Given the description of an element on the screen output the (x, y) to click on. 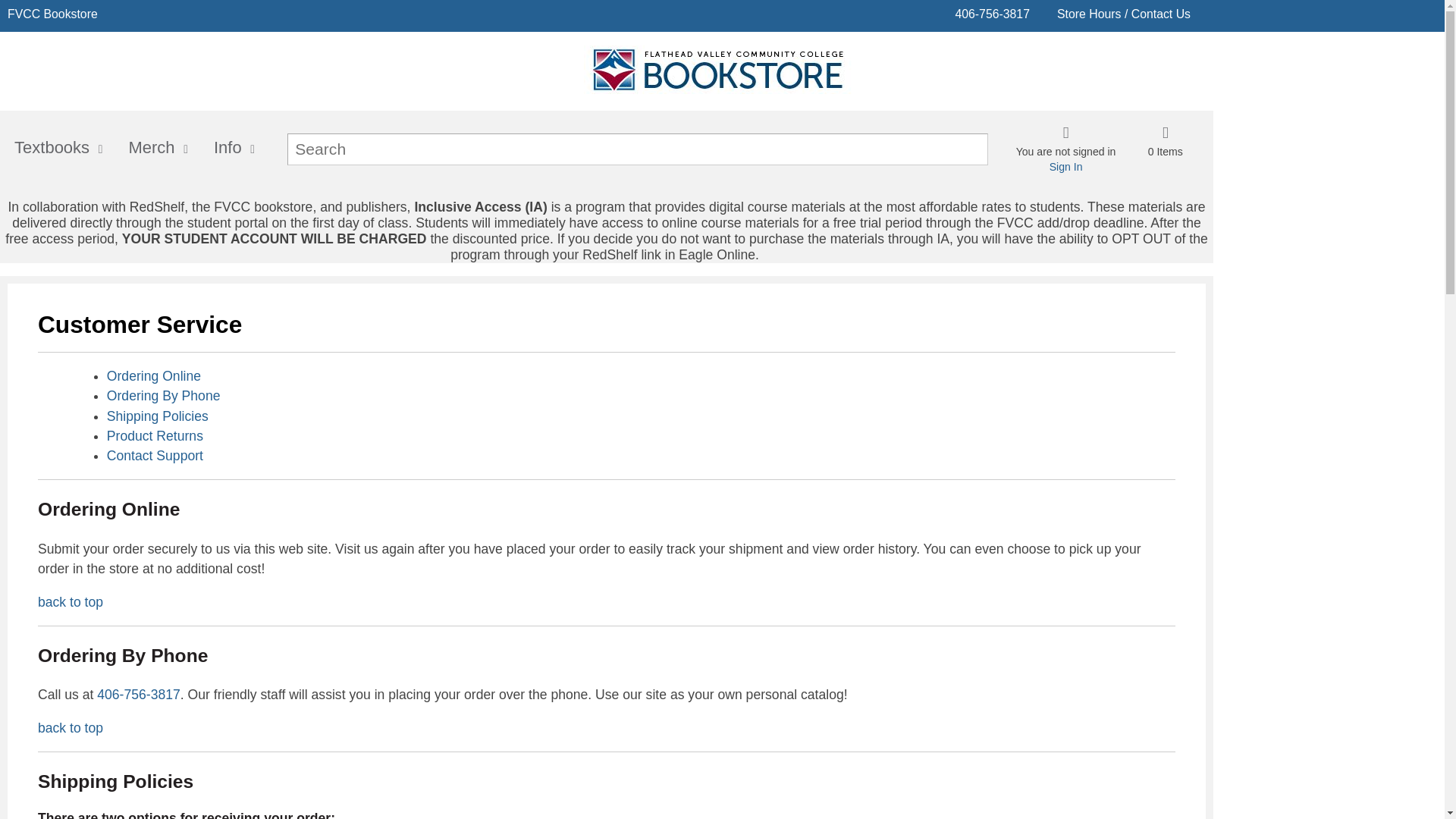
FVCC Bookstore (52, 13)
Search (586, 149)
406-756-3817 (992, 13)
